Given the description of an element on the screen output the (x, y) to click on. 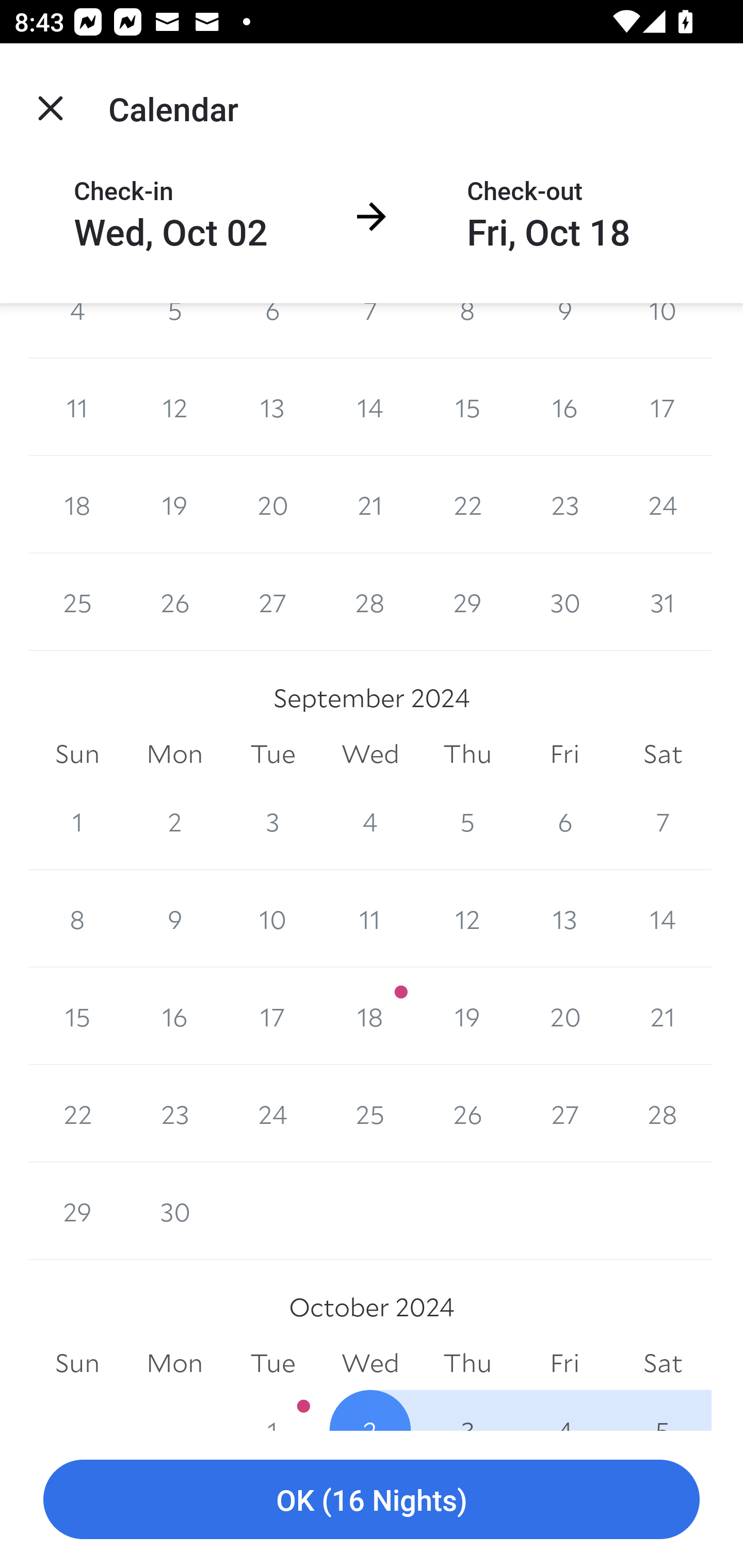
4 4 August 2024 (77, 330)
5 5 August 2024 (174, 330)
6 6 August 2024 (272, 330)
7 7 August 2024 (370, 330)
8 8 August 2024 (467, 330)
9 9 August 2024 (564, 330)
10 10 August 2024 (662, 330)
11 11 August 2024 (77, 407)
12 12 August 2024 (174, 407)
13 13 August 2024 (272, 407)
14 14 August 2024 (370, 407)
15 15 August 2024 (467, 407)
16 16 August 2024 (564, 407)
17 17 August 2024 (662, 407)
18 18 August 2024 (77, 504)
19 19 August 2024 (174, 504)
20 20 August 2024 (272, 504)
21 21 August 2024 (370, 504)
22 22 August 2024 (467, 504)
23 23 August 2024 (564, 504)
24 24 August 2024 (662, 504)
25 25 August 2024 (77, 601)
26 26 August 2024 (174, 601)
27 27 August 2024 (272, 601)
28 28 August 2024 (370, 601)
29 29 August 2024 (467, 601)
30 30 August 2024 (564, 601)
31 31 August 2024 (662, 601)
Sun (77, 754)
Mon (174, 754)
Tue (272, 754)
Wed (370, 754)
Thu (467, 754)
Fri (564, 754)
Sat (662, 754)
1 1 September 2024 (77, 821)
2 2 September 2024 (174, 821)
3 3 September 2024 (272, 821)
4 4 September 2024 (370, 821)
5 5 September 2024 (467, 821)
6 6 September 2024 (564, 821)
7 7 September 2024 (662, 821)
8 8 September 2024 (77, 918)
9 9 September 2024 (174, 918)
10 10 September 2024 (272, 918)
11 11 September 2024 (370, 918)
12 12 September 2024 (467, 918)
13 13 September 2024 (564, 918)
14 14 September 2024 (662, 918)
15 15 September 2024 (77, 1015)
16 16 September 2024 (174, 1015)
17 17 September 2024 (272, 1015)
18 18 September 2024 (370, 1015)
19 19 September 2024 (467, 1015)
20 20 September 2024 (564, 1015)
21 21 September 2024 (662, 1015)
22 22 September 2024 (77, 1112)
23 23 September 2024 (174, 1112)
24 24 September 2024 (272, 1112)
25 25 September 2024 (370, 1112)
26 26 September 2024 (467, 1112)
27 27 September 2024 (564, 1112)
28 28 September 2024 (662, 1112)
29 29 September 2024 (77, 1210)
30 30 September 2024 (174, 1210)
Sun (77, 1363)
Mon (174, 1363)
Tue (272, 1363)
Wed (370, 1363)
Thu (467, 1363)
Fri (564, 1363)
Sat (662, 1363)
OK (16 Nights) (371, 1499)
